Given the description of an element on the screen output the (x, y) to click on. 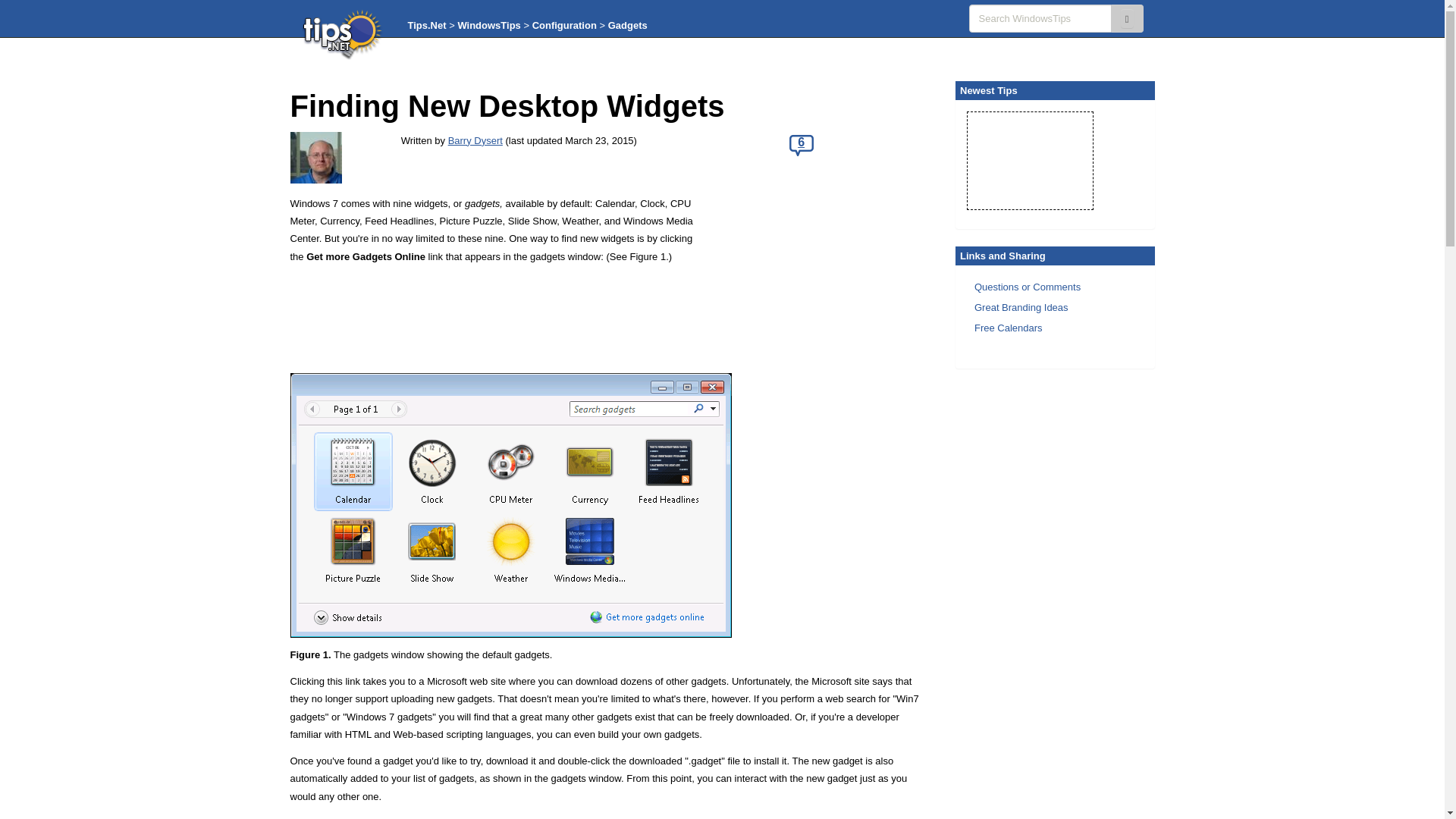
WindowsTips (488, 25)
Configuration (564, 25)
Gadgets (627, 25)
Advertisement (818, 278)
Great Branding Ideas (1021, 307)
6 (801, 143)
Questions or Comments (1027, 285)
Barry Dysert (475, 140)
Free Calendars (1008, 327)
